Given the description of an element on the screen output the (x, y) to click on. 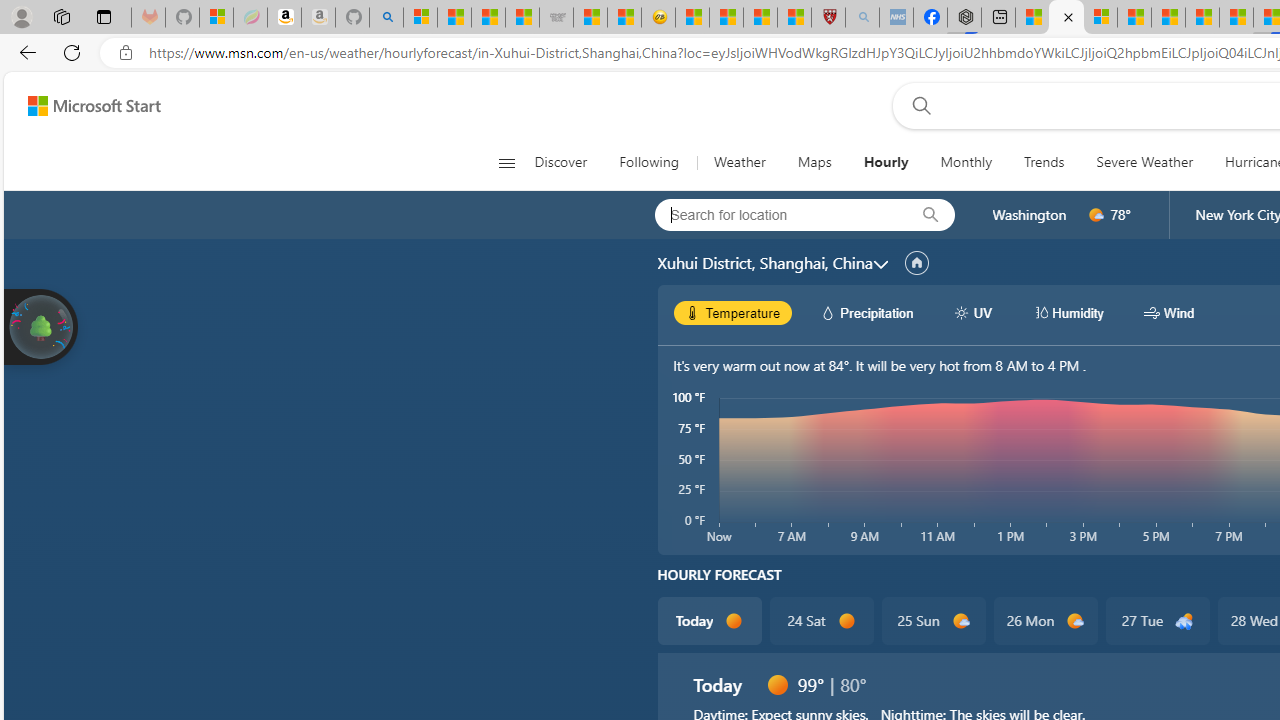
d2200 (1184, 621)
26 Mon d1000 (1045, 620)
Severe Weather (1144, 162)
Join us in planting real trees to help our planet! (40, 327)
locationName/setHomeLocation (916, 263)
hourlyChart/precipitationWhite Precipitation (866, 312)
